Given the description of an element on the screen output the (x, y) to click on. 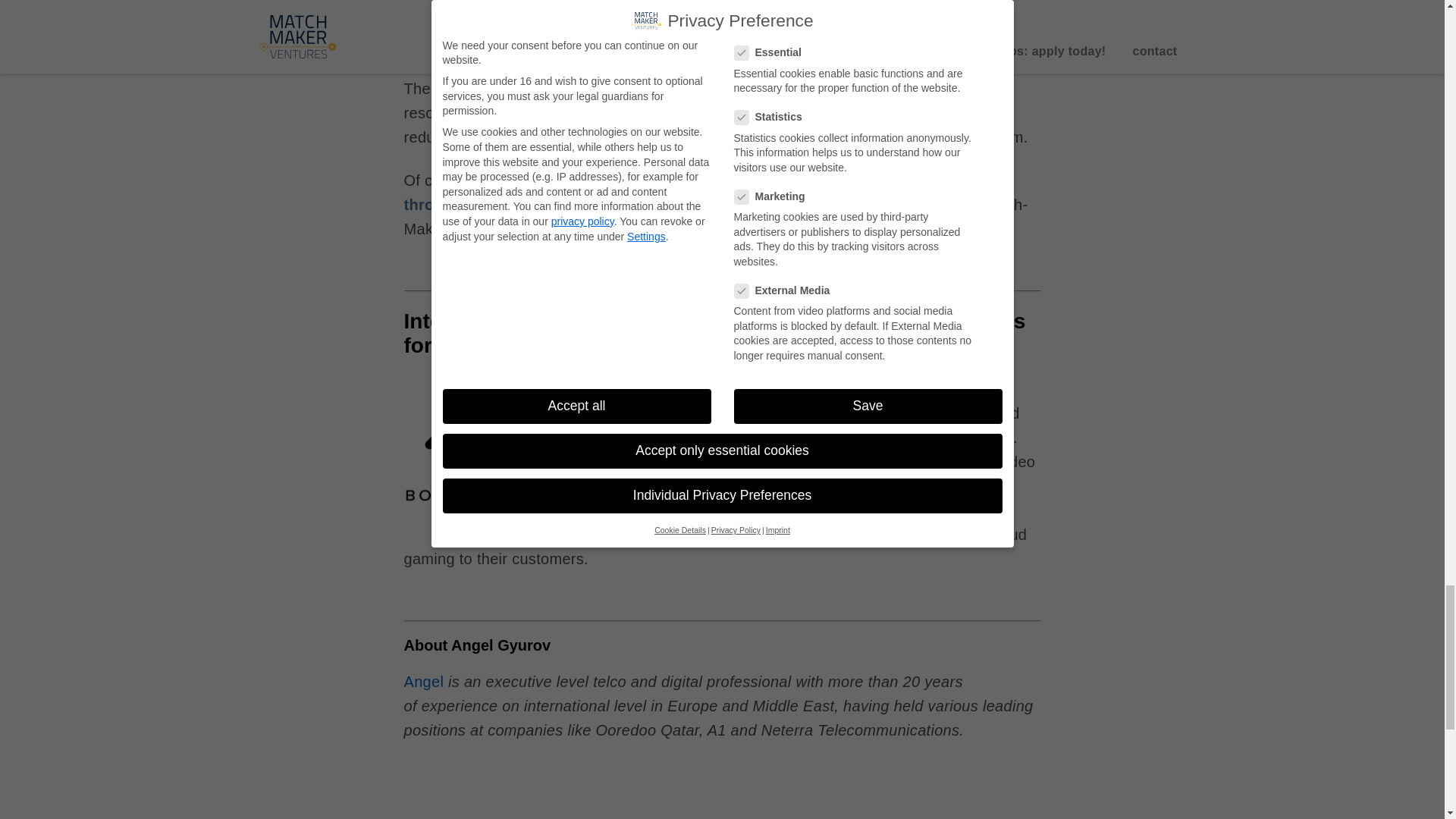
Boosteroid (876, 388)
Angel (423, 681)
